Given the description of an element on the screen output the (x, y) to click on. 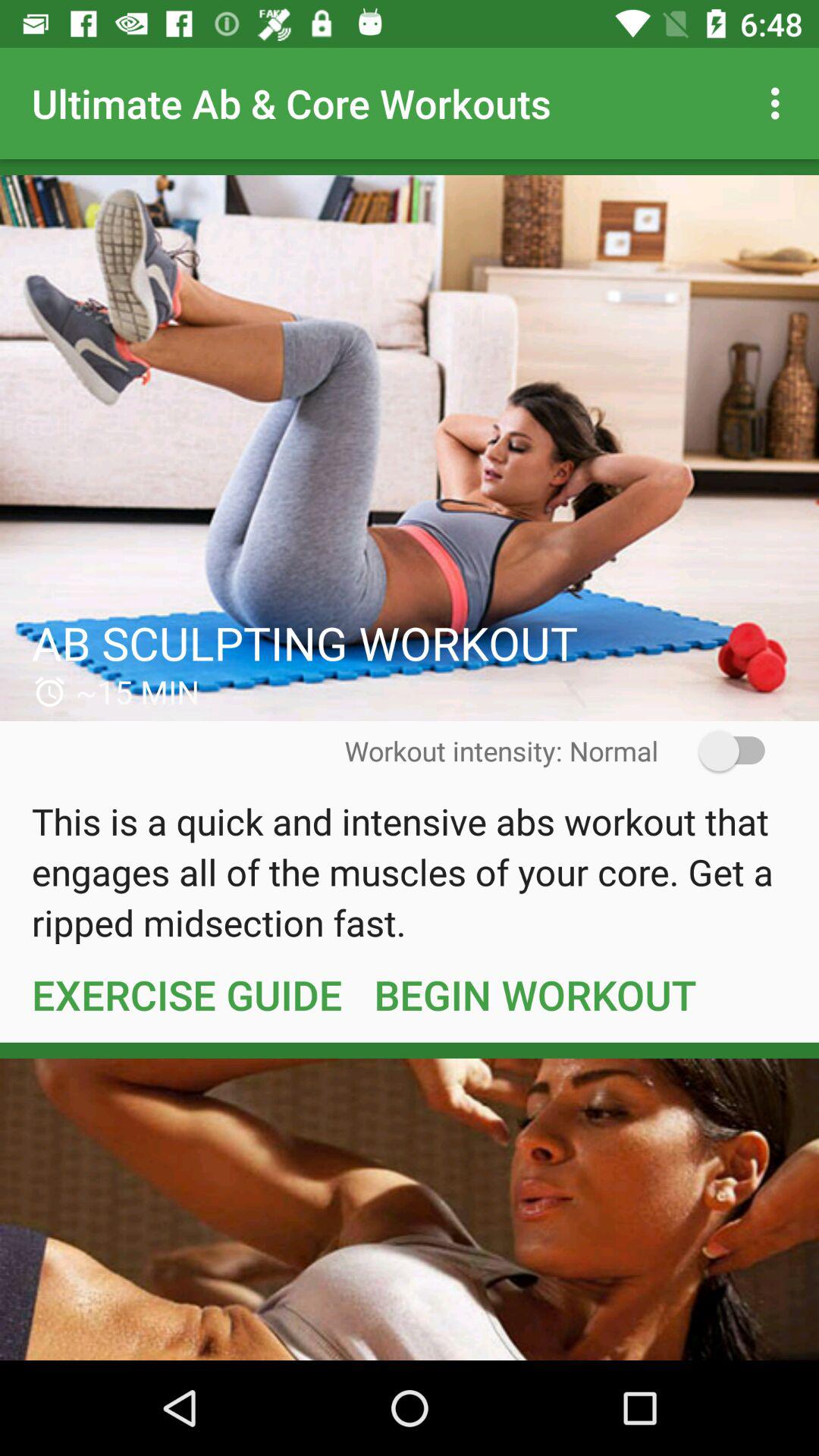
turn off the item to the right of the exercise guide (535, 994)
